Given the description of an element on the screen output the (x, y) to click on. 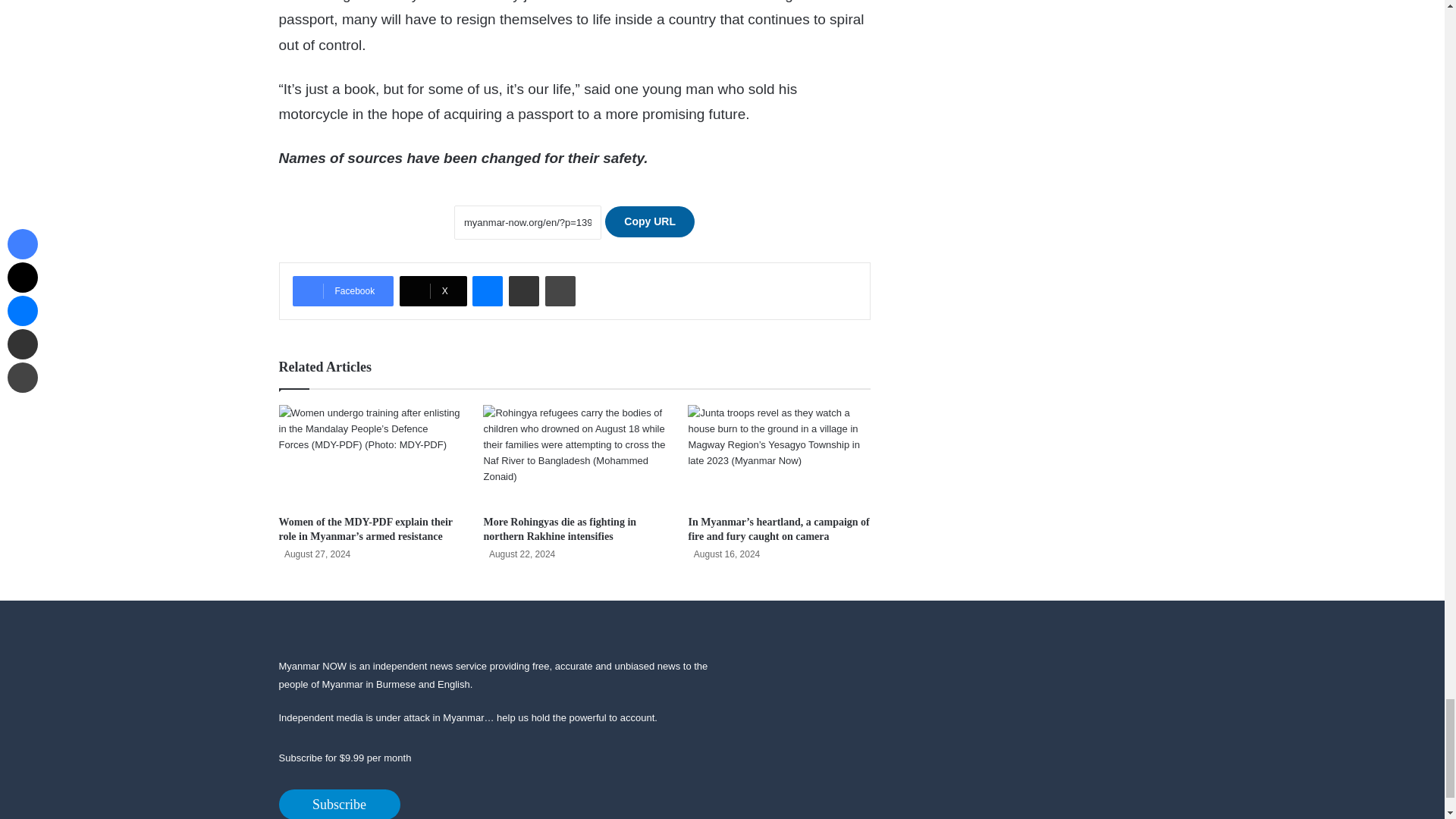
Messenger (486, 291)
Copy URL (649, 221)
Facebook (343, 291)
X (432, 291)
Print (559, 291)
Share via Email (523, 291)
Facebook (343, 291)
Print (559, 291)
Share via Email (523, 291)
